Given the description of an element on the screen output the (x, y) to click on. 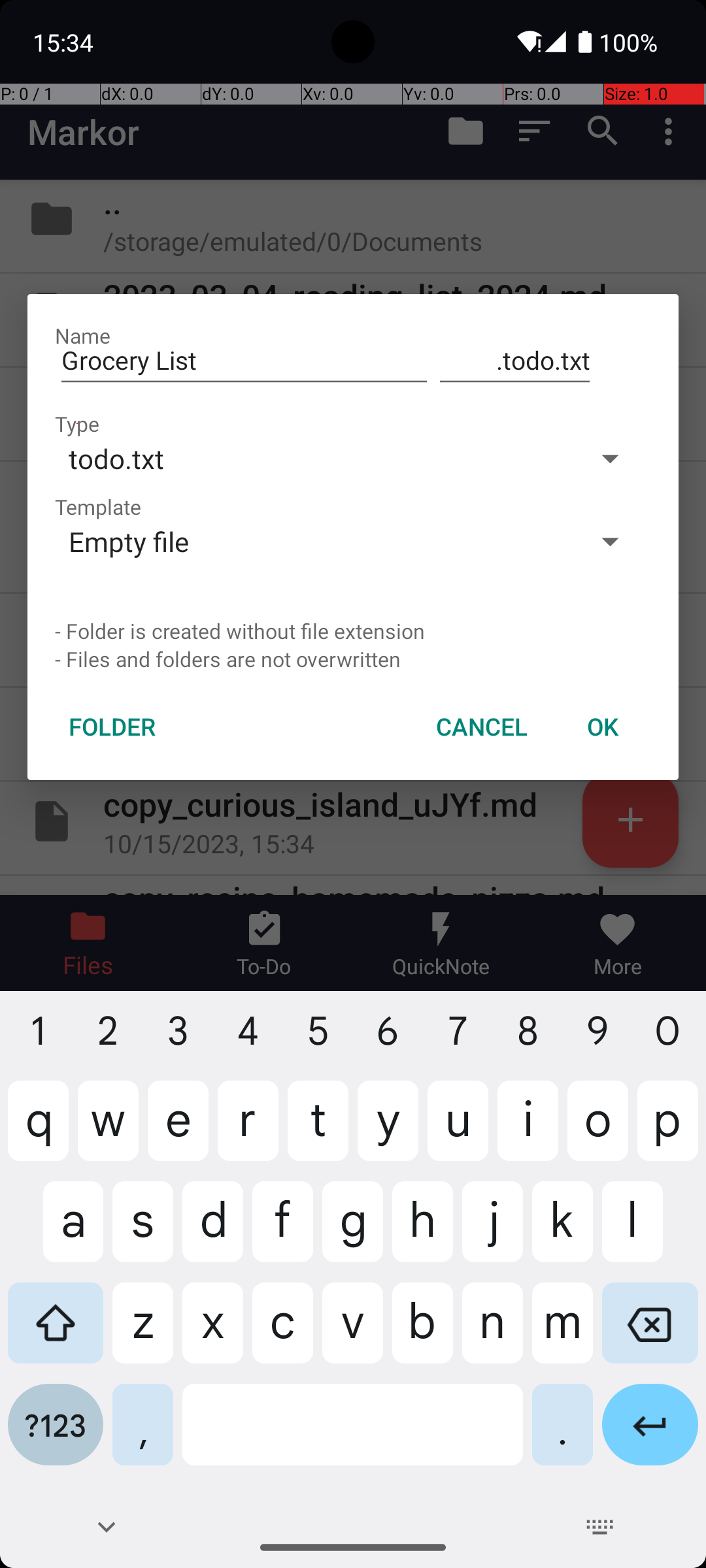
Grocery List Element type: android.widget.EditText (243, 360)
.todo.txt Element type: android.widget.EditText (514, 360)
